Given the description of an element on the screen output the (x, y) to click on. 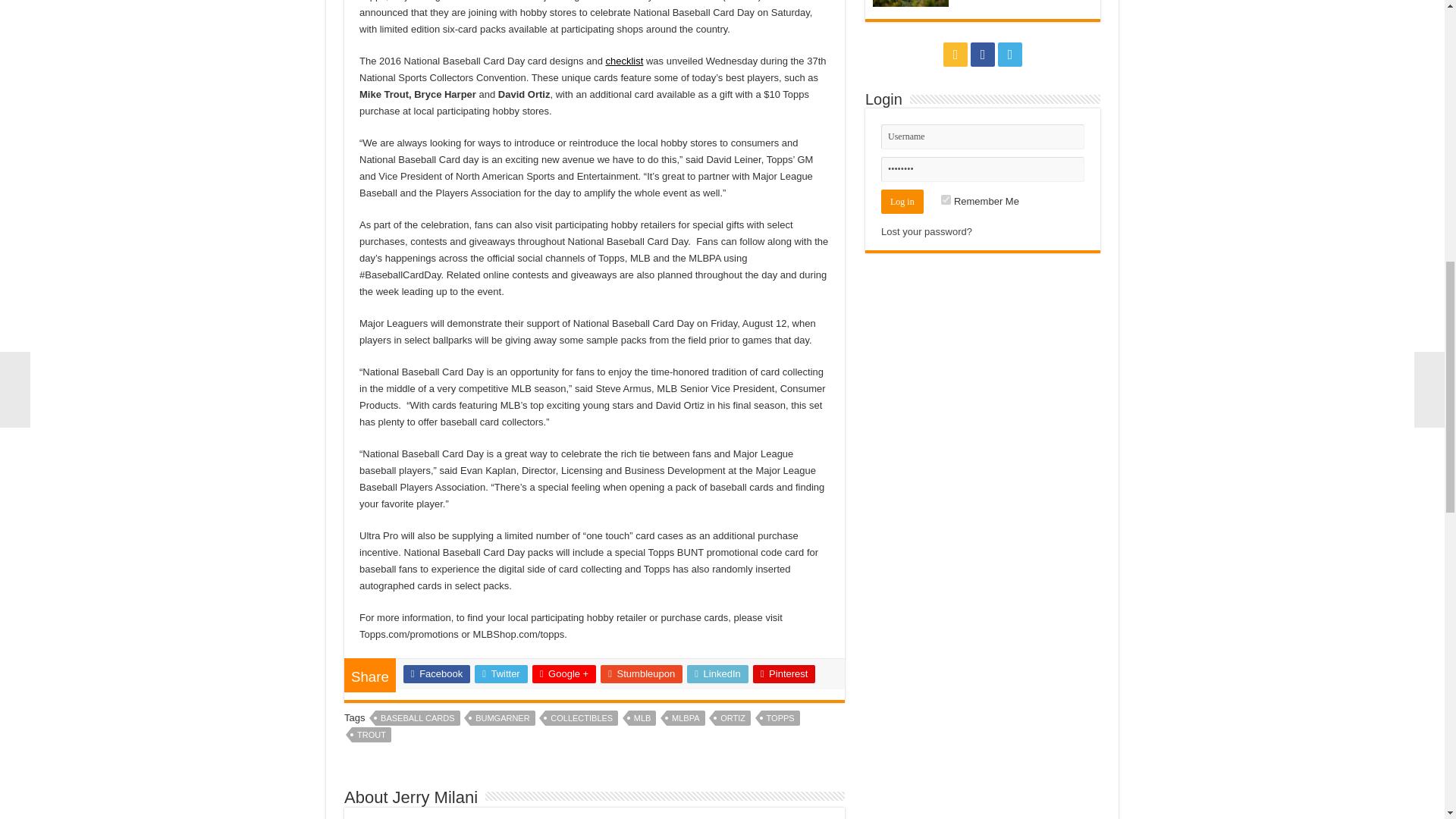
MLB (642, 717)
forever (945, 199)
Facebook (436, 674)
BUMGARNER (502, 717)
Stumbleupon (640, 674)
Username (982, 136)
LinkedIn (717, 674)
Facebook (982, 54)
Pinterest (783, 674)
Twitter (500, 674)
Rss (955, 54)
Password (982, 169)
Log in (901, 201)
COLLECTIBLES (580, 717)
checklist (624, 60)
